Given the description of an element on the screen output the (x, y) to click on. 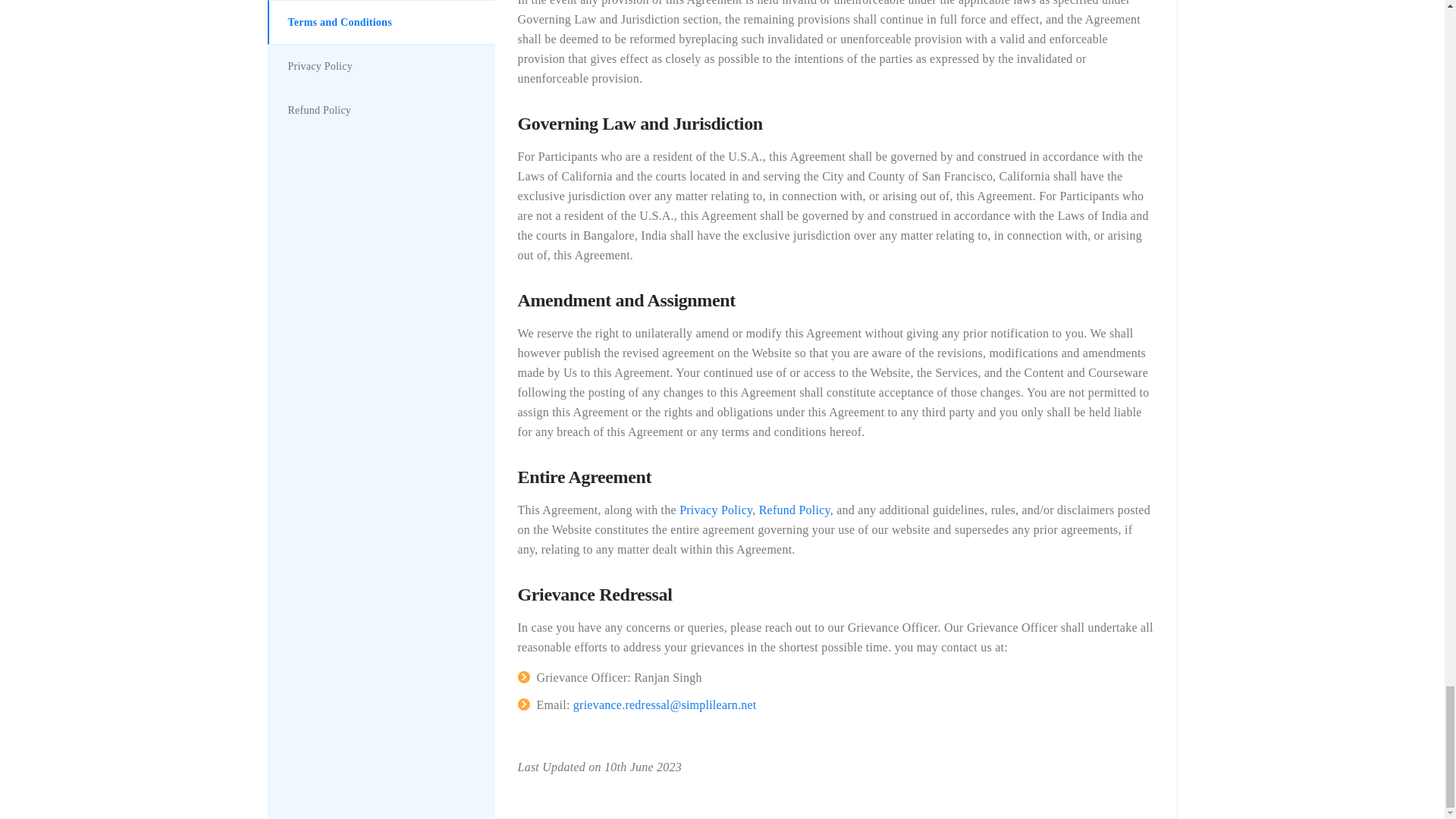
Refund Policy (793, 509)
Privacy Policy (715, 509)
